Given the description of an element on the screen output the (x, y) to click on. 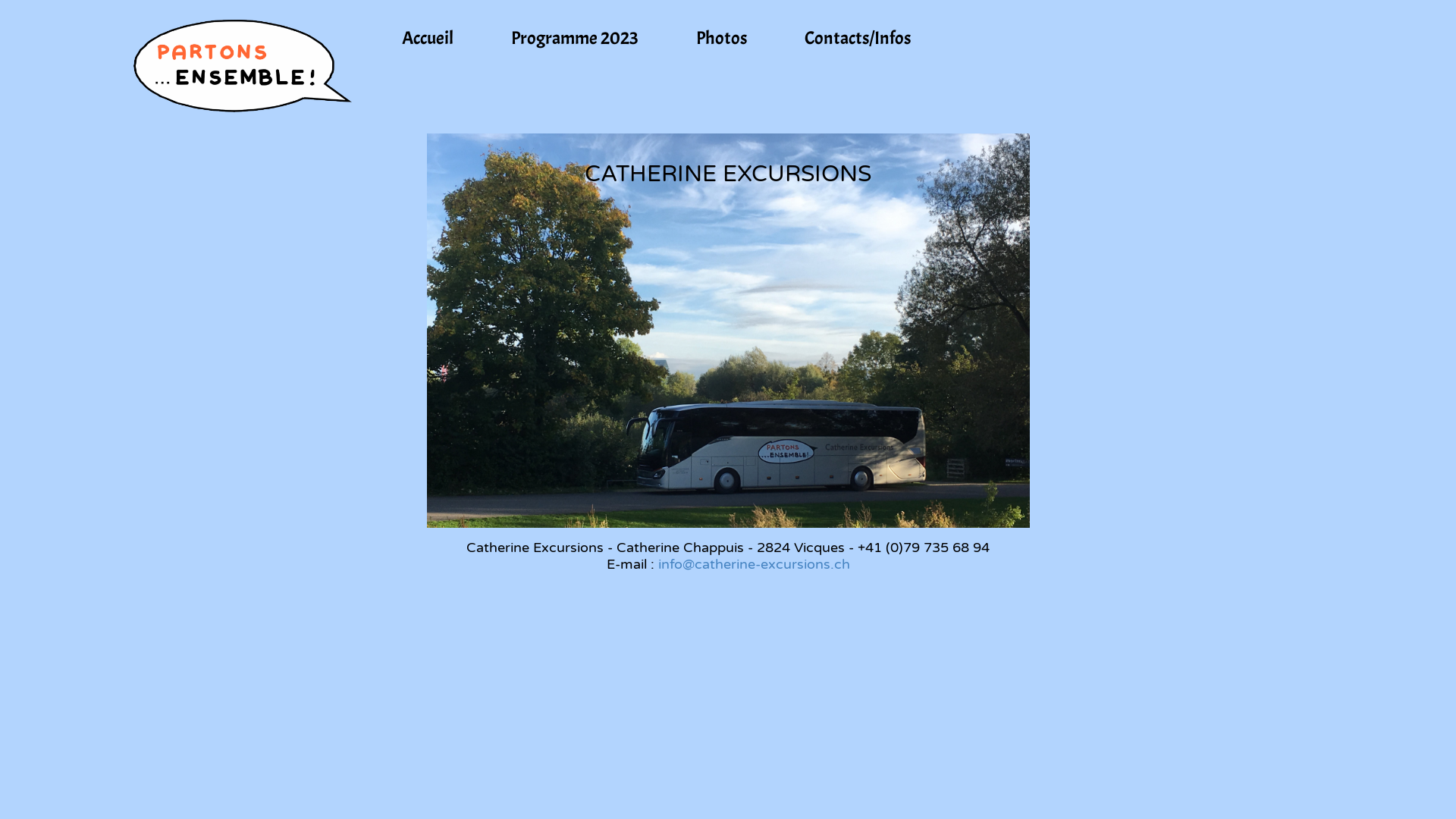
+41 (0)79 735 68 94 Element type: text (923, 547)
Photos Element type: text (721, 37)
Programme 2023 Element type: text (574, 37)
Accueil Element type: text (427, 37)
Contacts/Infos Element type: text (857, 37)
info@catherine-excursions.ch Element type: text (754, 563)
